Given the description of an element on the screen output the (x, y) to click on. 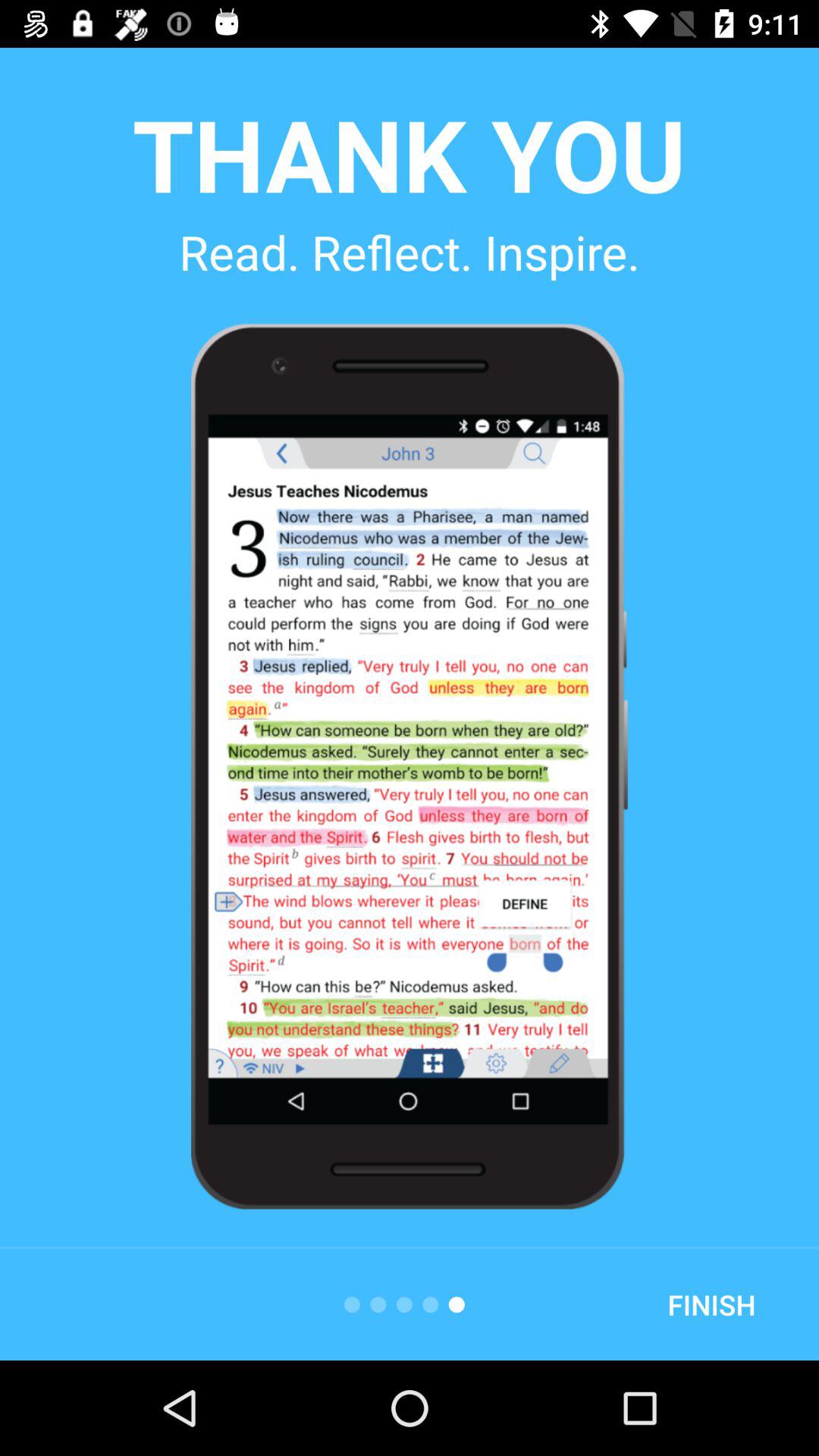
launch item above the read. reflect. inspire. (408, 153)
